Given the description of an element on the screen output the (x, y) to click on. 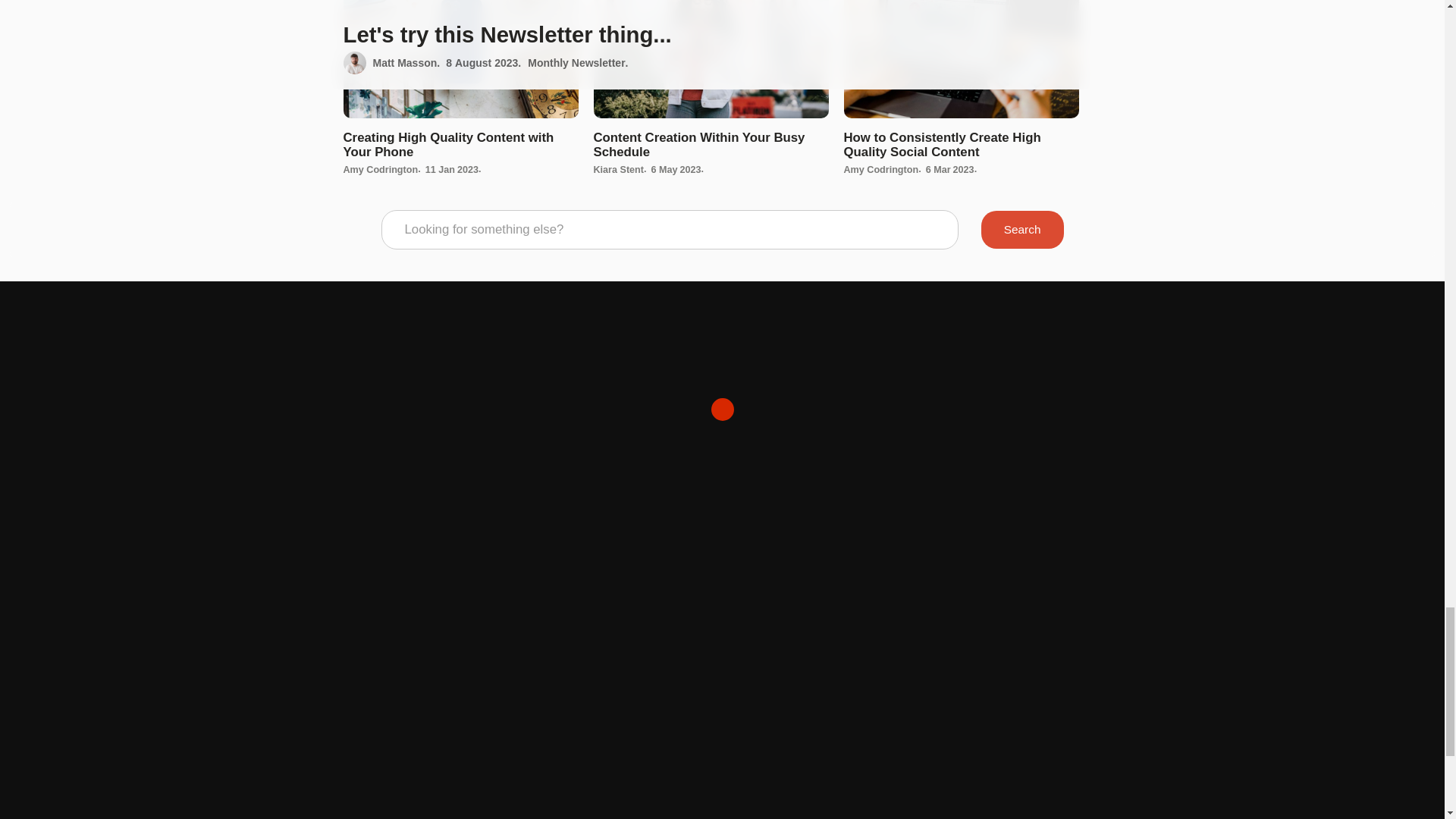
Search (1022, 229)
Search (1022, 229)
Search (1022, 229)
